Given the description of an element on the screen output the (x, y) to click on. 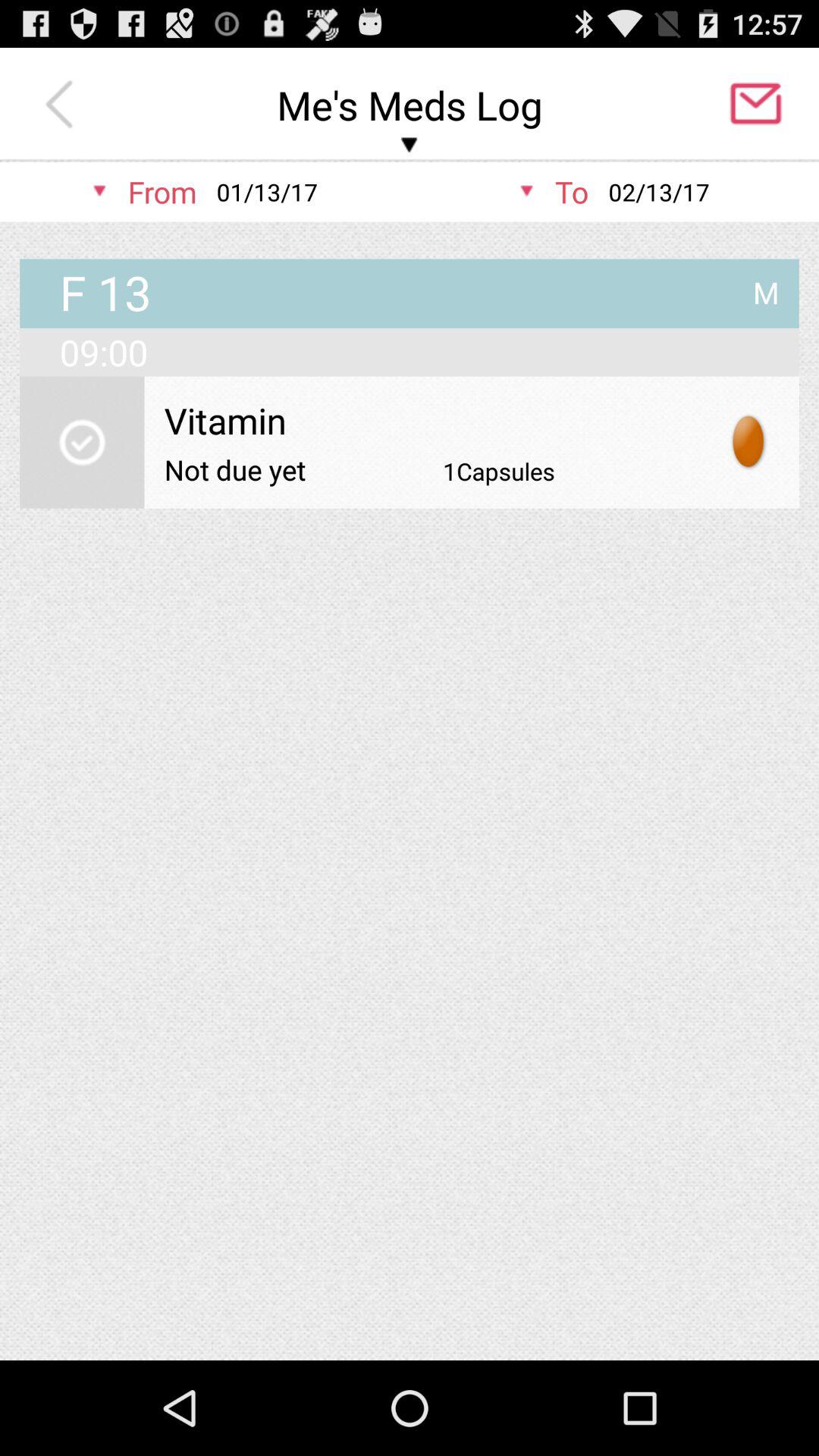
choose the f 13 (105, 294)
